Given the description of an element on the screen output the (x, y) to click on. 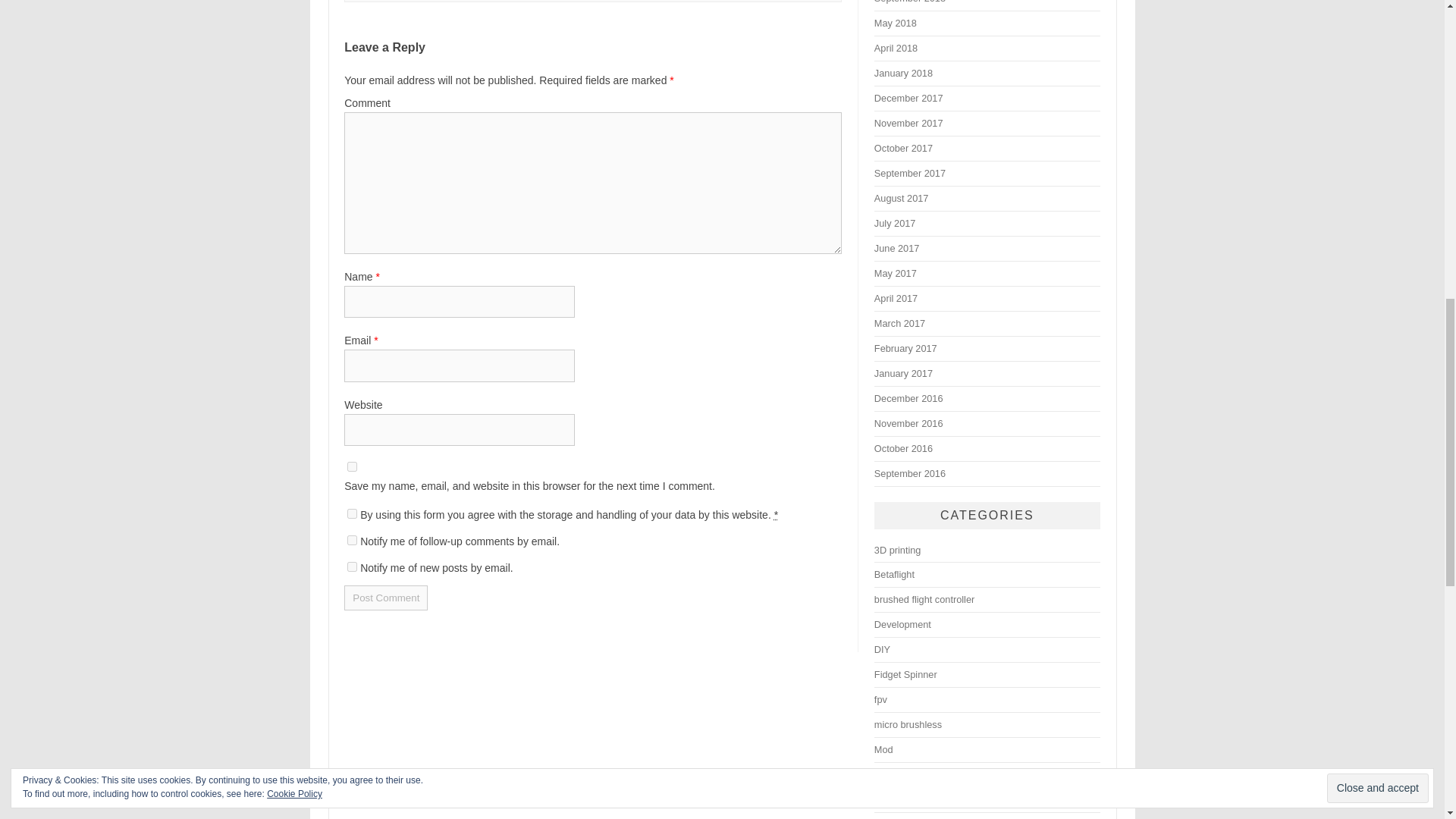
Post Comment (385, 597)
yes (351, 466)
subscribe (351, 566)
betaflight relatet posts, setting up, configuration etc (894, 573)
subscribe (351, 540)
1 (351, 513)
Post Comment (385, 597)
fpv related quadcopter posts (880, 699)
